Given the description of an element on the screen output the (x, y) to click on. 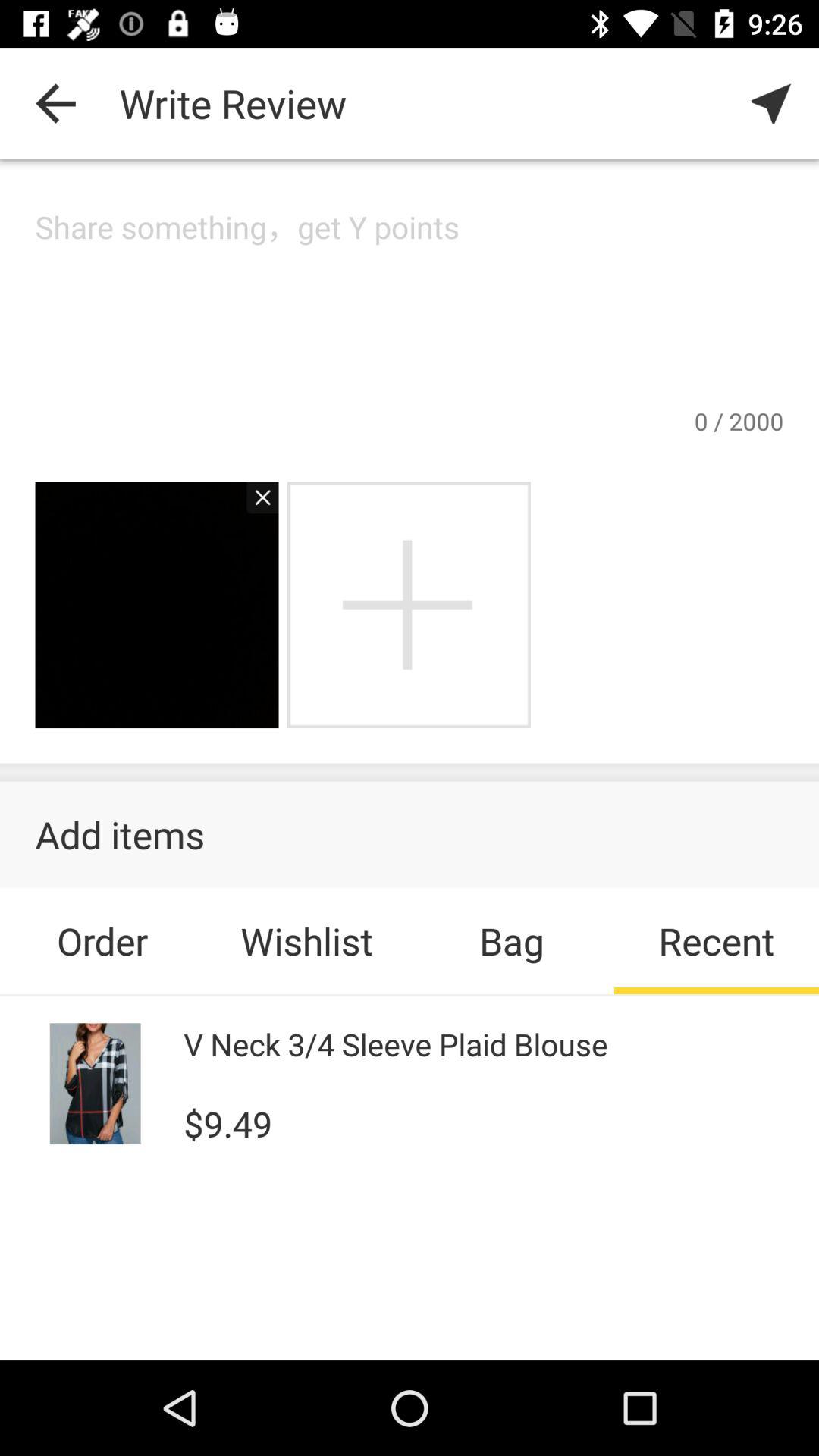
swipe until v neck 3 (395, 1043)
